Given the description of an element on the screen output the (x, y) to click on. 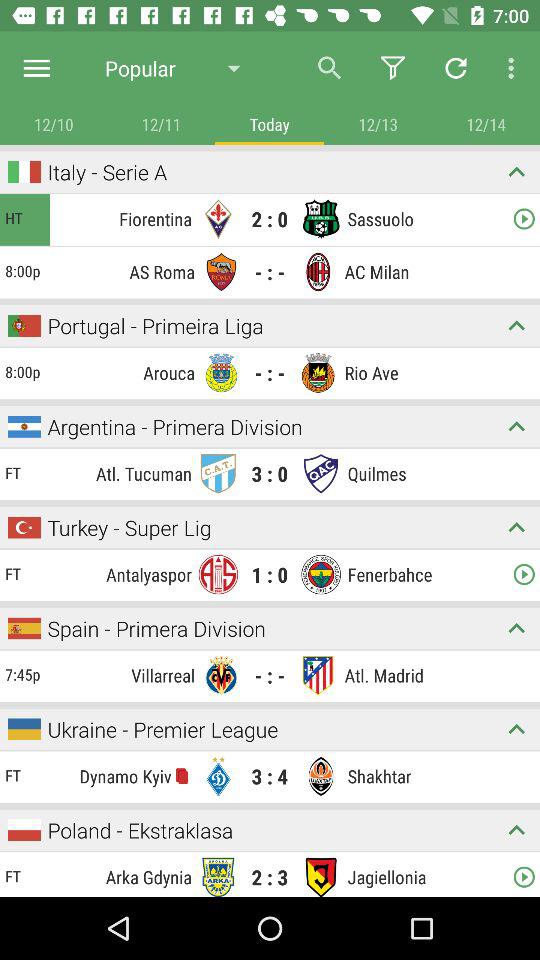
showing playing teams (516, 527)
